Given the description of an element on the screen output the (x, y) to click on. 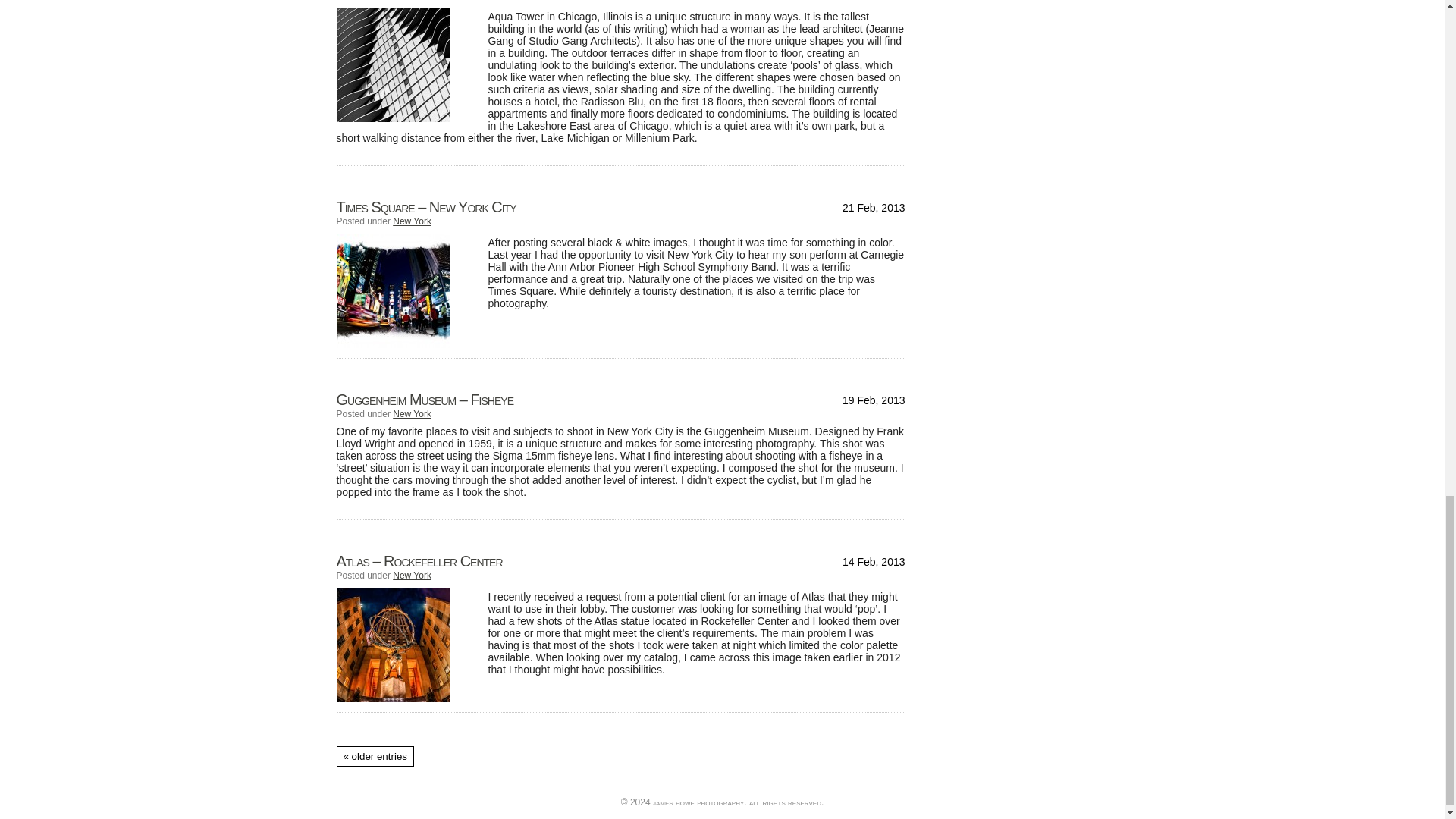
New York (411, 575)
New York (411, 221)
New York (411, 413)
Architecture (417, 0)
